Given the description of an element on the screen output the (x, y) to click on. 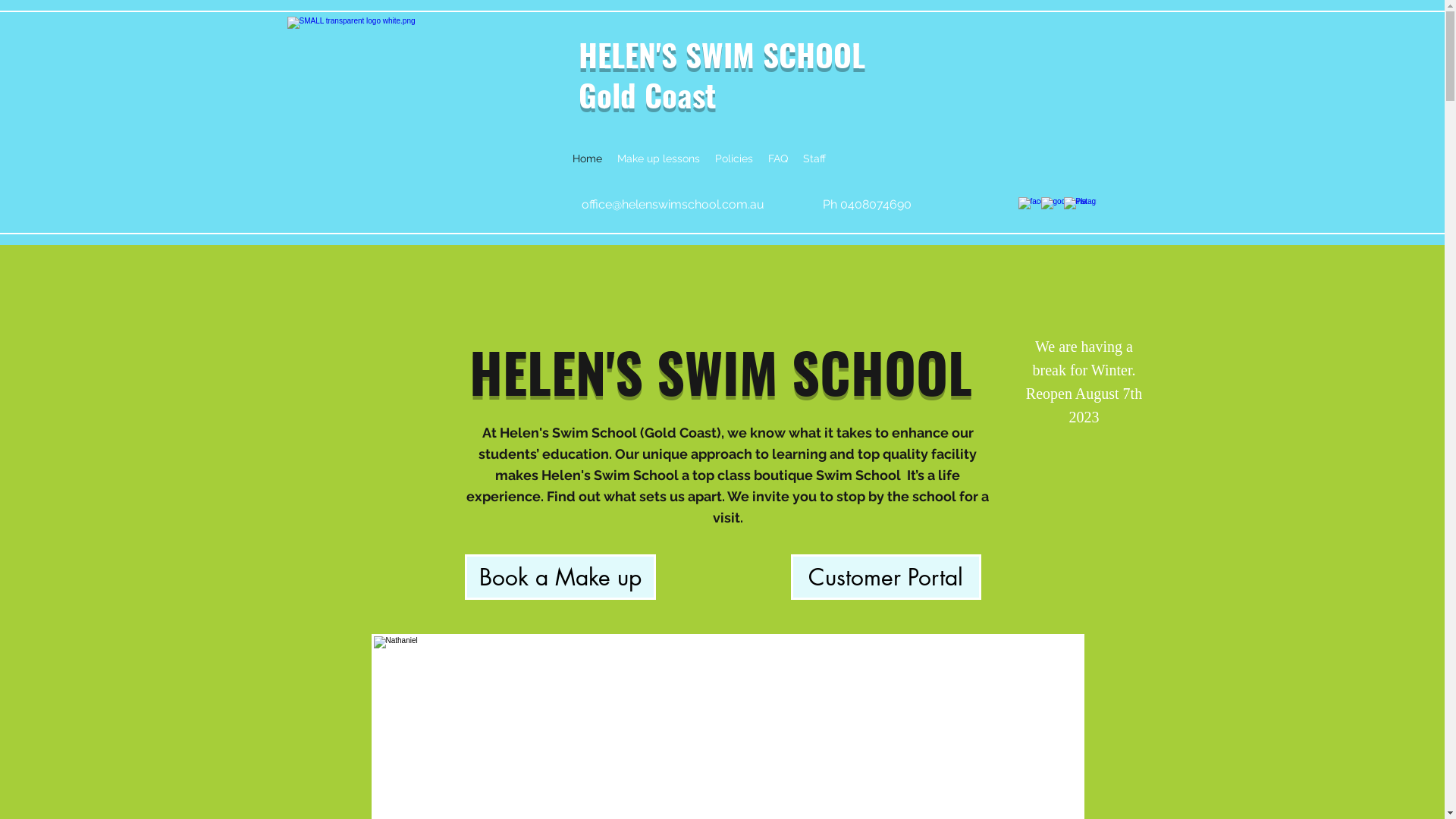
Policies Element type: text (732, 157)
Staff Element type: text (813, 157)
Make up lessons Element type: text (658, 157)
Customer Portal Element type: text (885, 576)
FAQ Element type: text (776, 157)
Book a Make up Element type: text (559, 576)
office@helenswimschool.com.au Element type: text (671, 204)
Home Element type: text (586, 157)
